Given the description of an element on the screen output the (x, y) to click on. 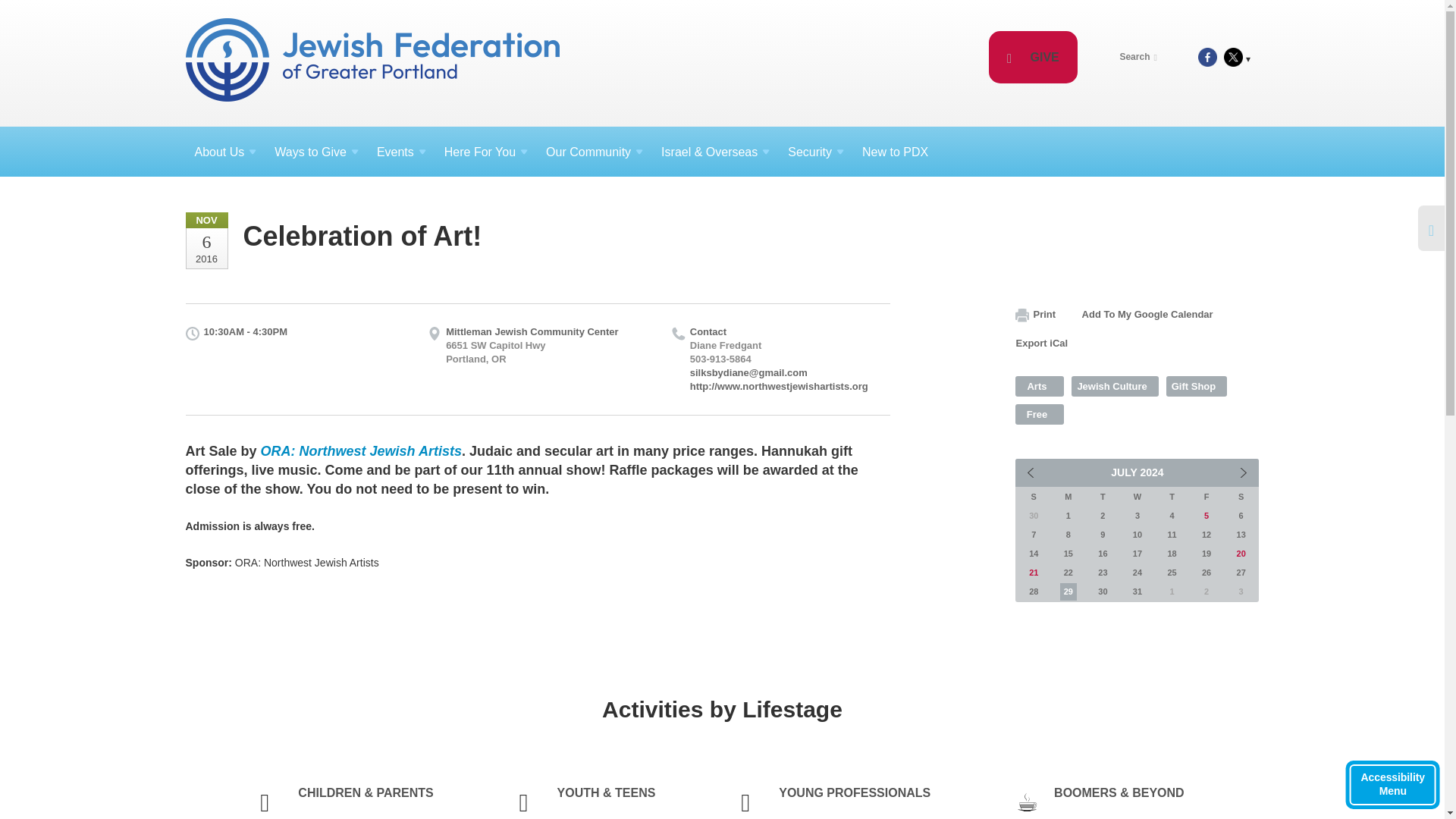
Search (1140, 56)
Accessibility Menu (1392, 784)
Ways to Give (316, 151)
GIVE (1033, 57)
Events (401, 151)
Here For You (486, 151)
Jewish Federation of Greater Portland (373, 62)
About Us (224, 151)
